Given the description of an element on the screen output the (x, y) to click on. 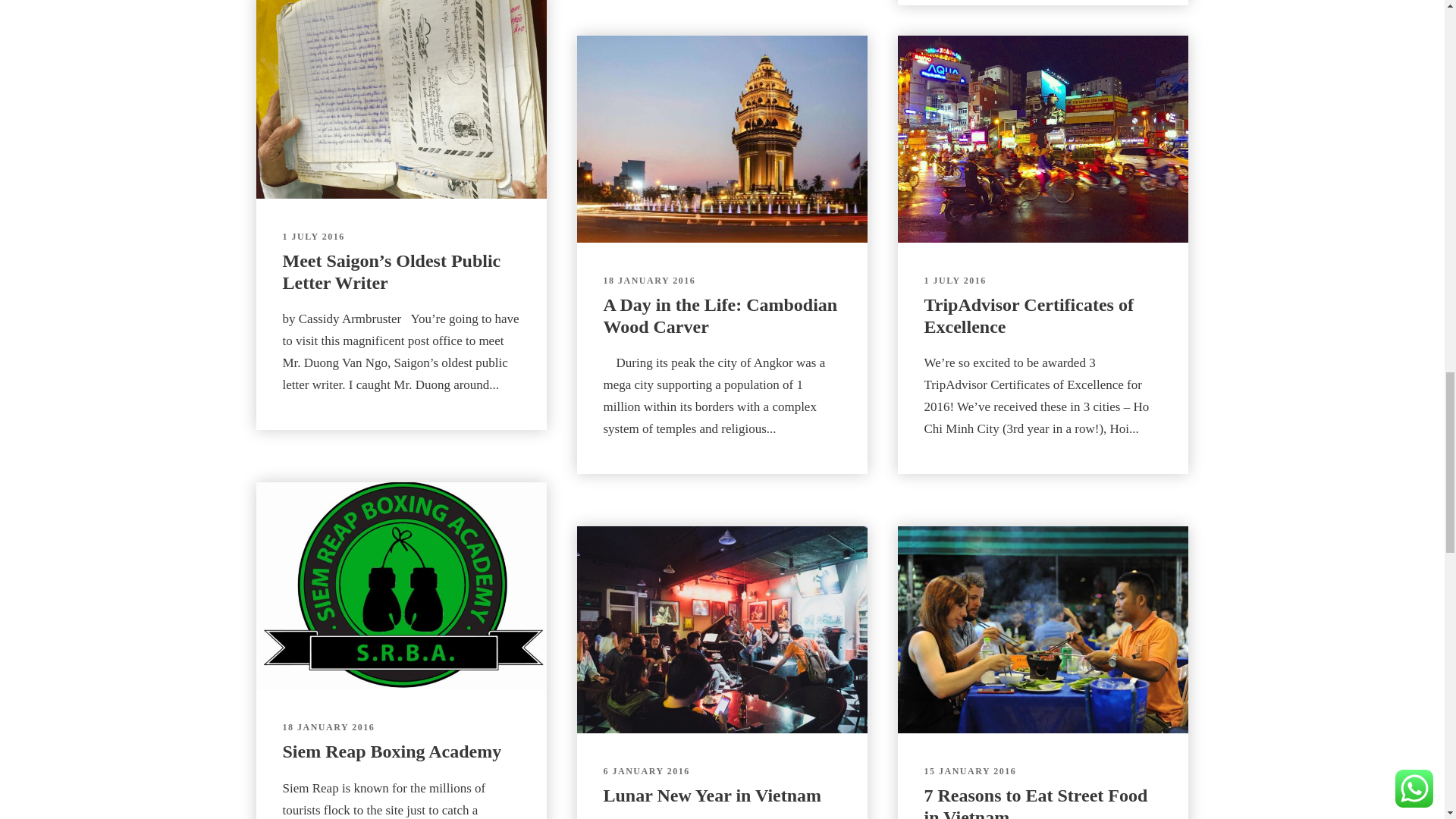
Logo (401, 586)
Cambodia tours Vespa Adventures (721, 139)
Experience the traffic in Ho Chi Minh City (1043, 139)
Public letter writer- Saigon (401, 99)
